Given the description of an element on the screen output the (x, y) to click on. 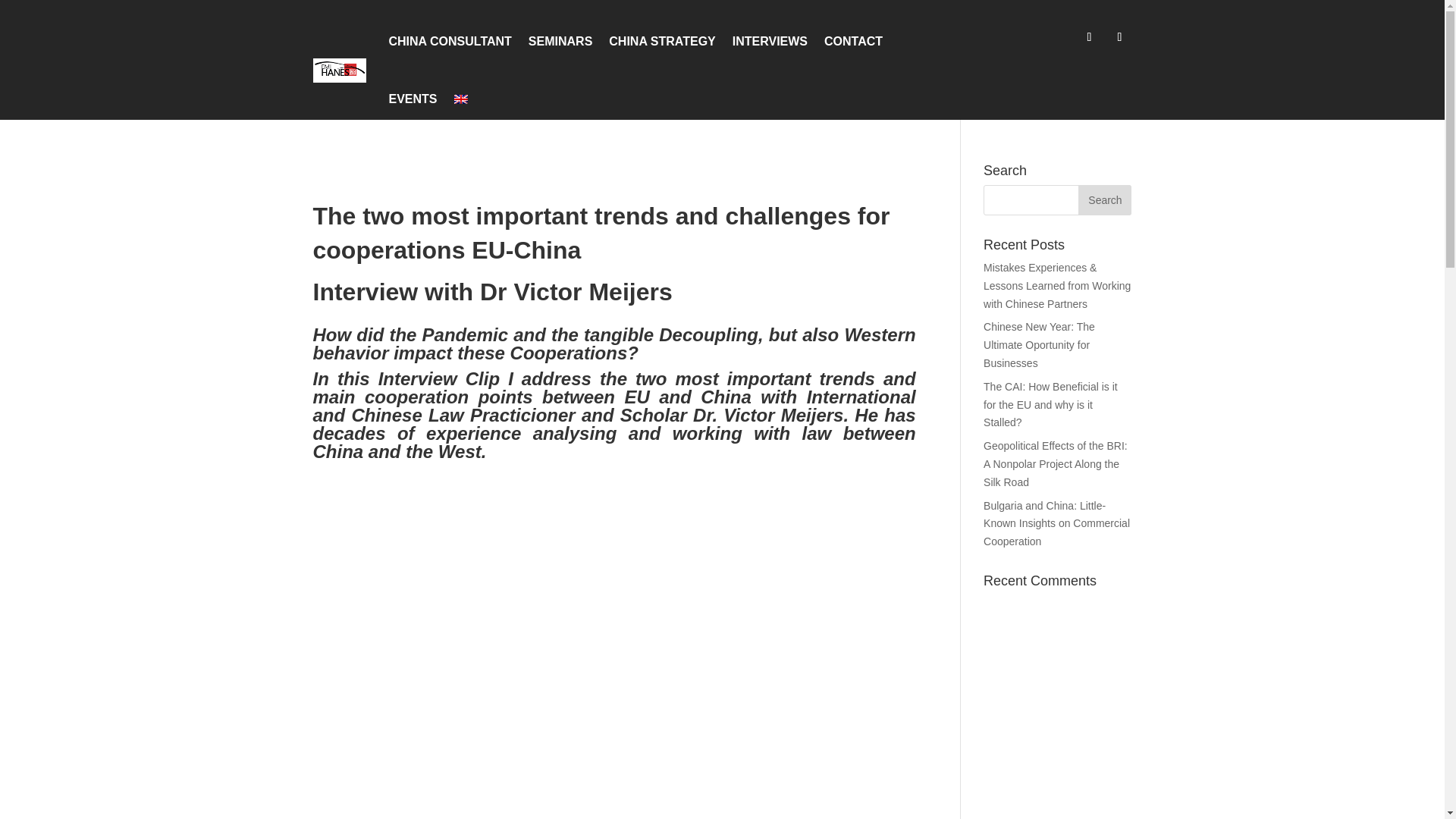
Follow on LinkedIn (1118, 37)
Search (1104, 200)
CHINA CONSULTANT (449, 41)
Follow on Facebook (1088, 37)
CHINA STRATEGY (661, 41)
Search (1104, 200)
